Given the description of an element on the screen output the (x, y) to click on. 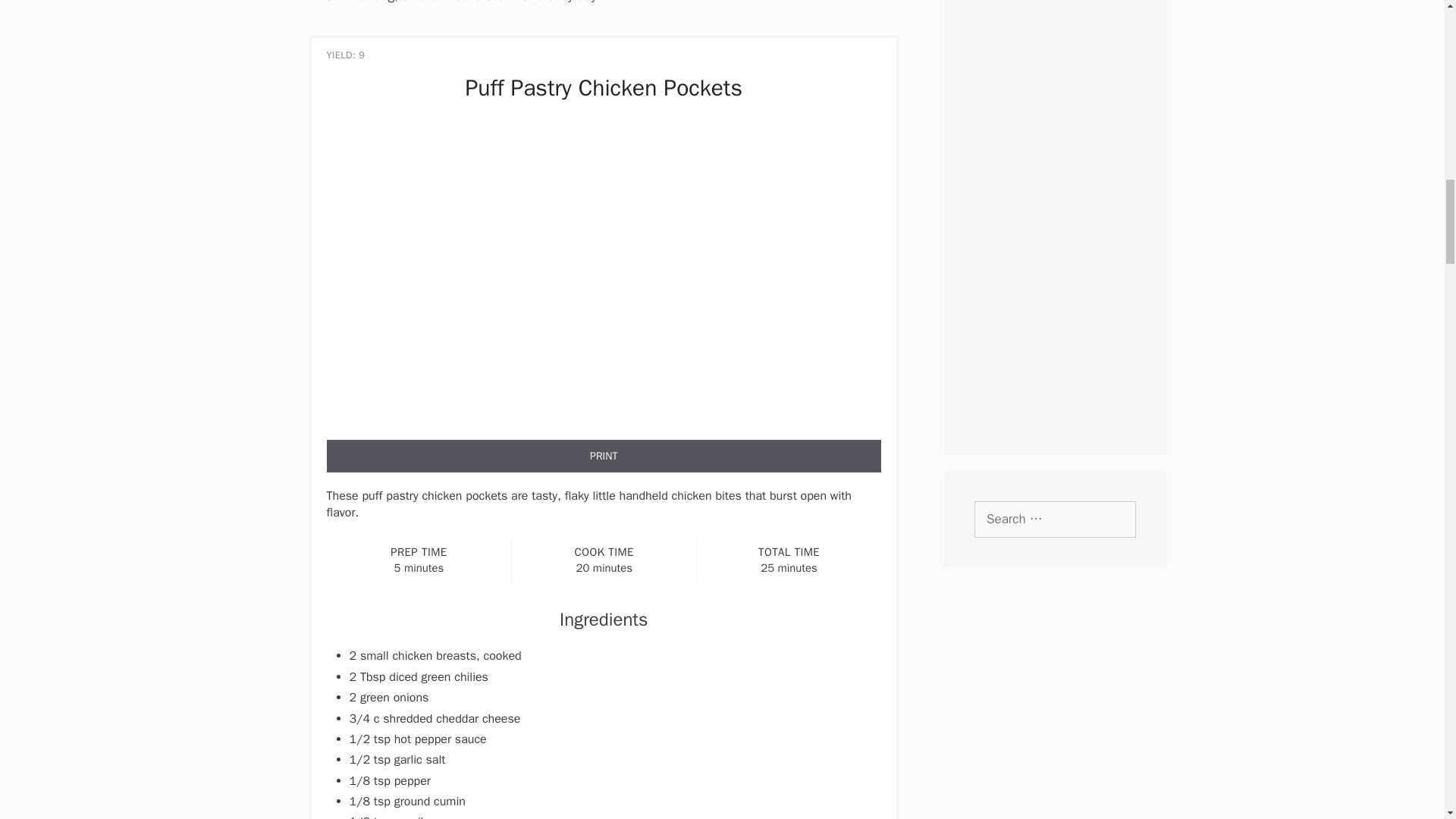
PRINT (603, 455)
Search for: (1054, 519)
